Given the description of an element on the screen output the (x, y) to click on. 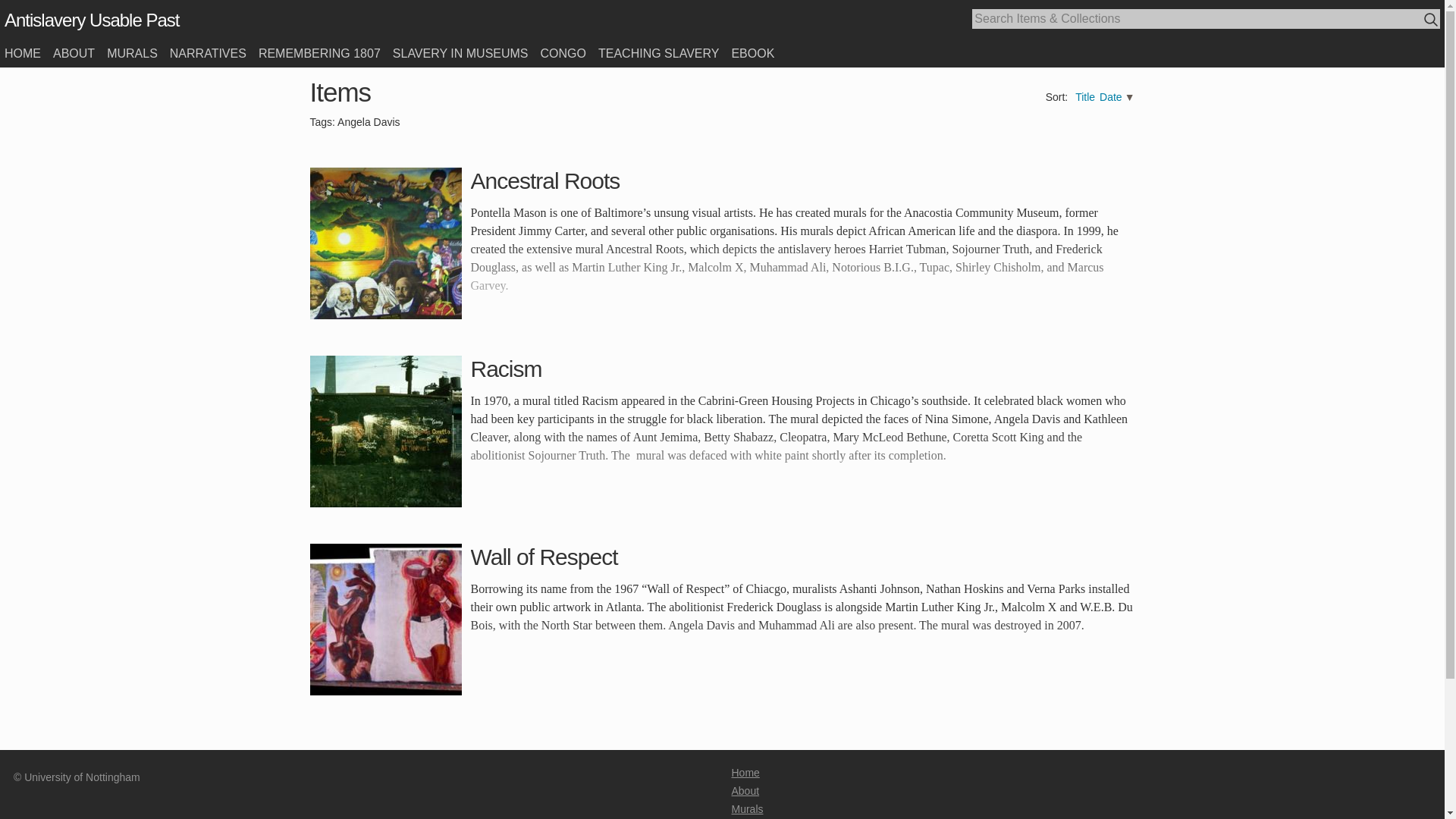
Date (1110, 96)
Antislavery Usable Past (91, 19)
Search (1431, 19)
Search (1430, 19)
CONGO (563, 52)
Search (1431, 19)
NARRATIVES (208, 52)
About (744, 790)
SLAVERY IN MUSEUMS (460, 52)
